Given the description of an element on the screen output the (x, y) to click on. 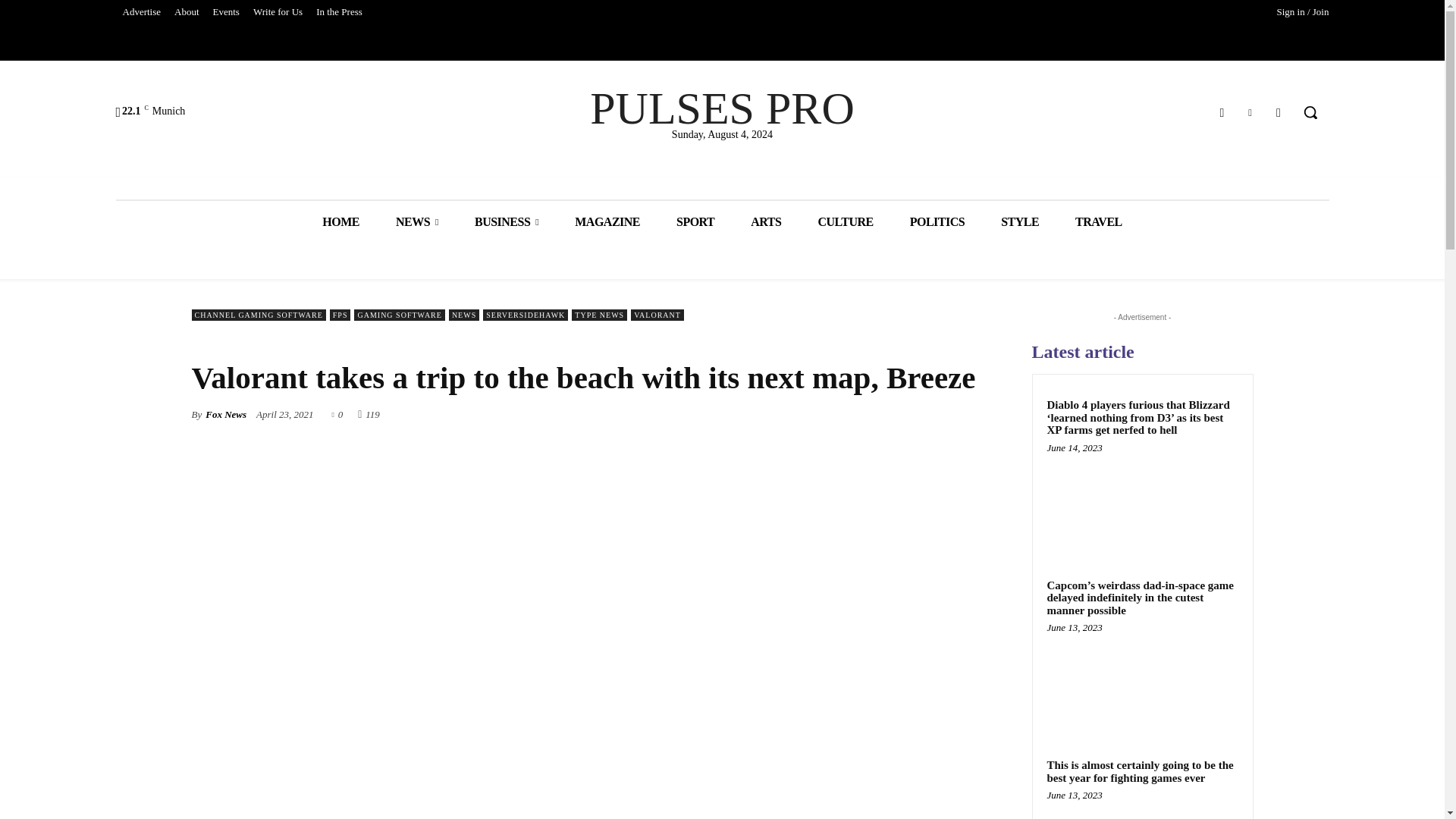
About (186, 12)
NEWS (417, 221)
HOME (340, 221)
In the Press (338, 12)
Events (226, 12)
Youtube (1278, 112)
Twitter (1250, 112)
Advertise (141, 12)
Facebook (1221, 112)
Write for Us (277, 12)
PULSES PRO (722, 108)
